Given the description of an element on the screen output the (x, y) to click on. 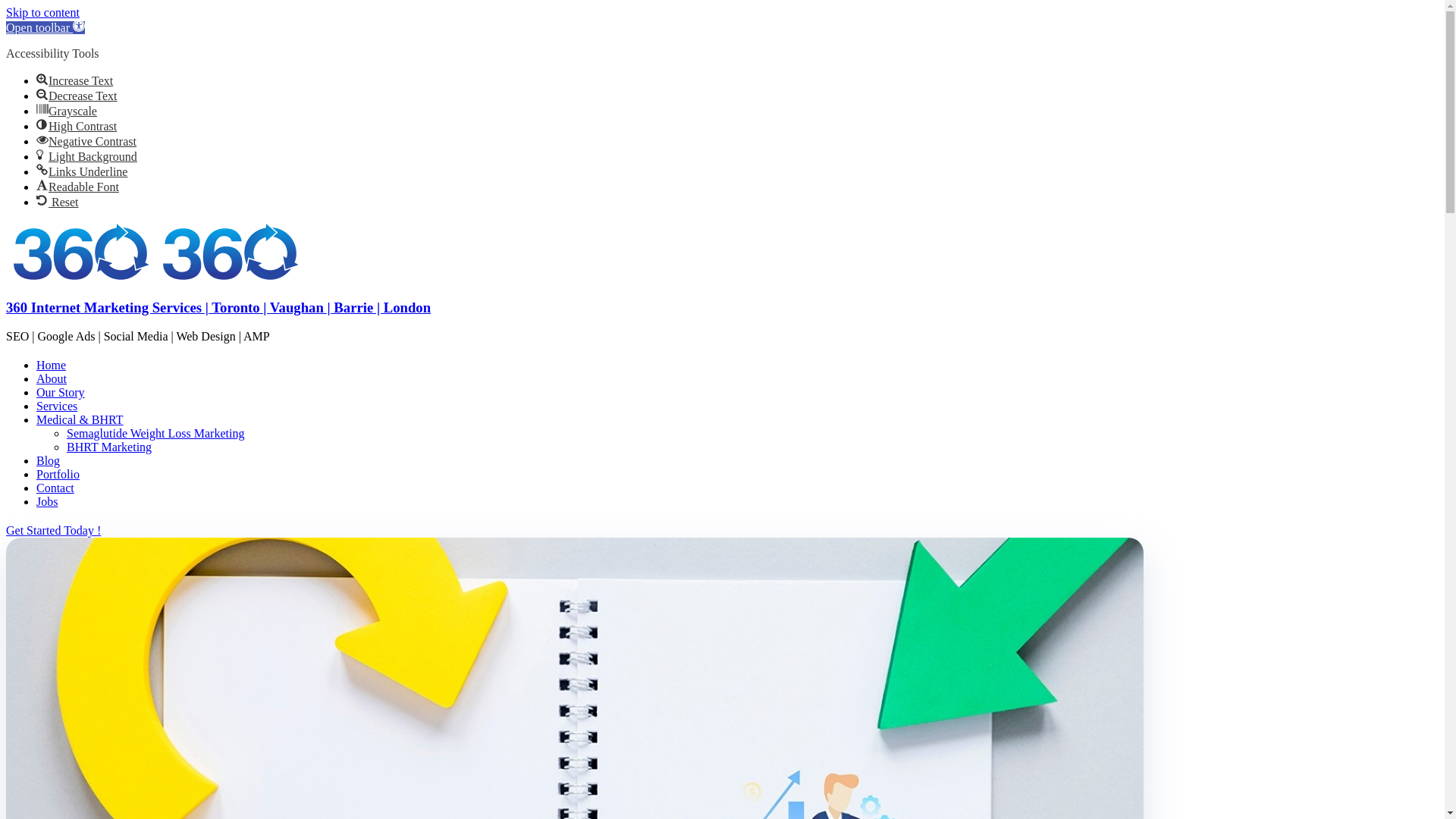
Readable FontReadable Font Element type: text (77, 186)
Negative ContrastNegative Contrast Element type: text (86, 140)
Services Element type: text (56, 405)
Reset Reset Element type: text (57, 201)
Open toolbar Accessibility Tools Element type: text (45, 27)
Home Element type: text (50, 364)
Skip to content Element type: text (42, 12)
Links UnderlineLinks Underline Element type: text (81, 171)
Contact Element type: text (55, 487)
Decrease TextDecrease Text Element type: text (76, 95)
Increase TextIncrease Text Element type: text (74, 80)
High ContrastHigh Contrast Element type: text (76, 125)
Our Story Element type: text (60, 391)
Portfolio Element type: text (57, 473)
Jobs Element type: text (46, 501)
Semaglutide Weight Loss Marketing Element type: text (155, 432)
Get Started Today ! Element type: text (438, 530)
Medical & BHRT Element type: text (79, 419)
Light BackgroundLight Background Element type: text (86, 156)
GrayscaleGrayscale Element type: text (66, 110)
About Element type: text (51, 378)
BHRT Marketing Element type: text (108, 446)
Blog Element type: text (47, 460)
